Given the description of an element on the screen output the (x, y) to click on. 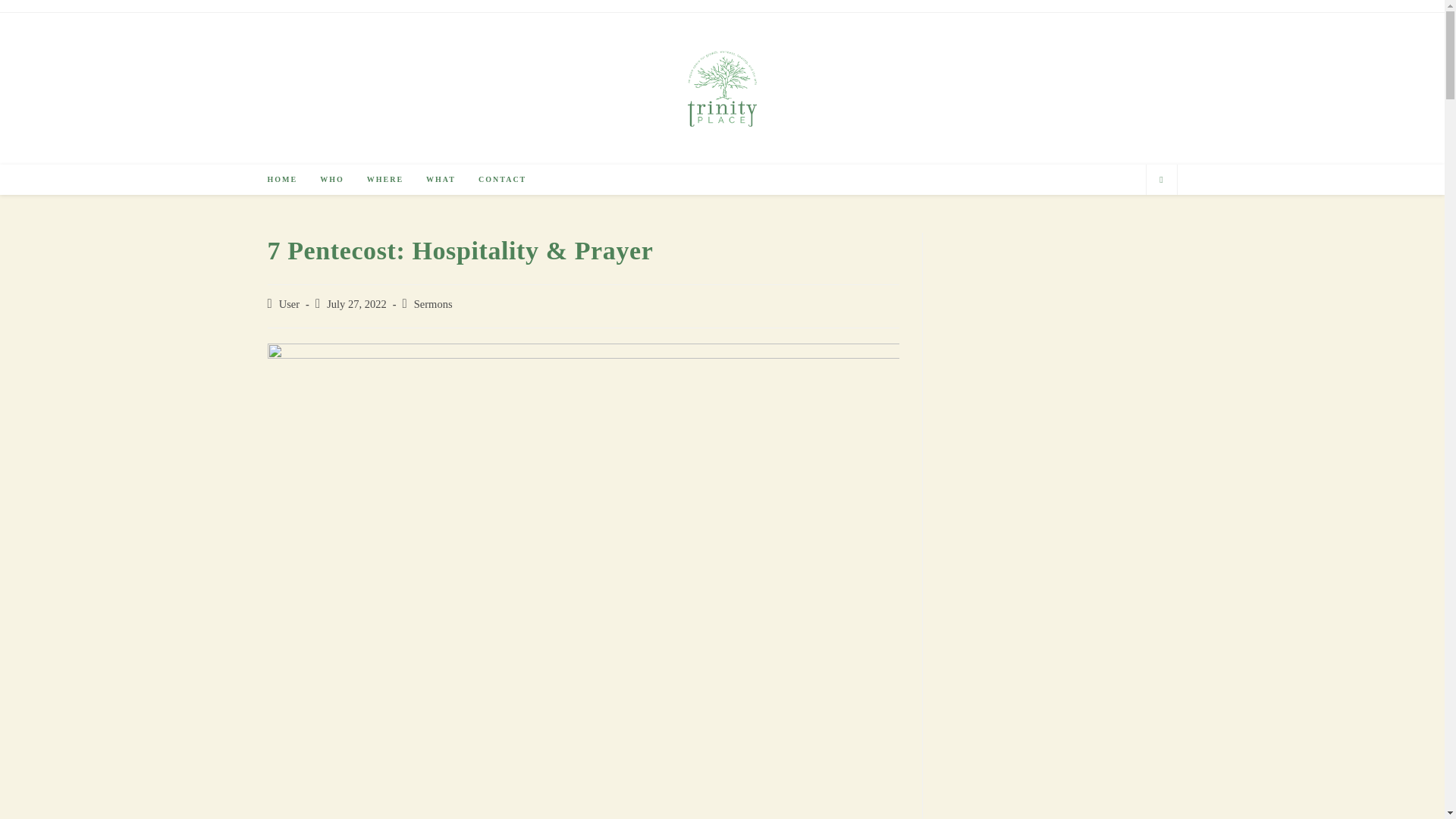
WHERE (384, 179)
User (289, 304)
CONTACT (502, 179)
Posts by User (289, 304)
WHAT (440, 179)
HOME (282, 179)
WHO (331, 179)
